Given the description of an element on the screen output the (x, y) to click on. 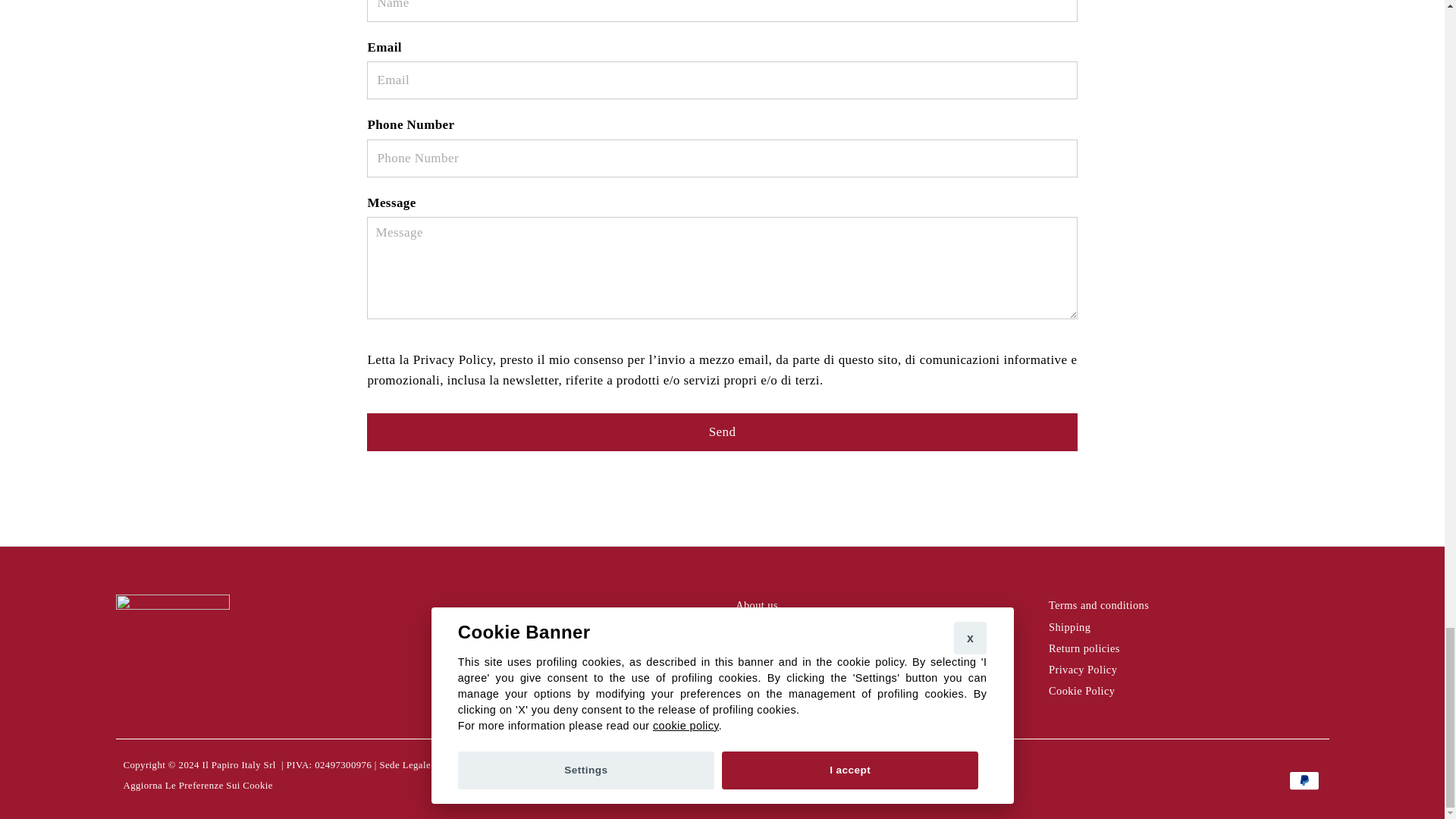
Send (721, 432)
PayPal (1303, 780)
